Given the description of an element on the screen output the (x, y) to click on. 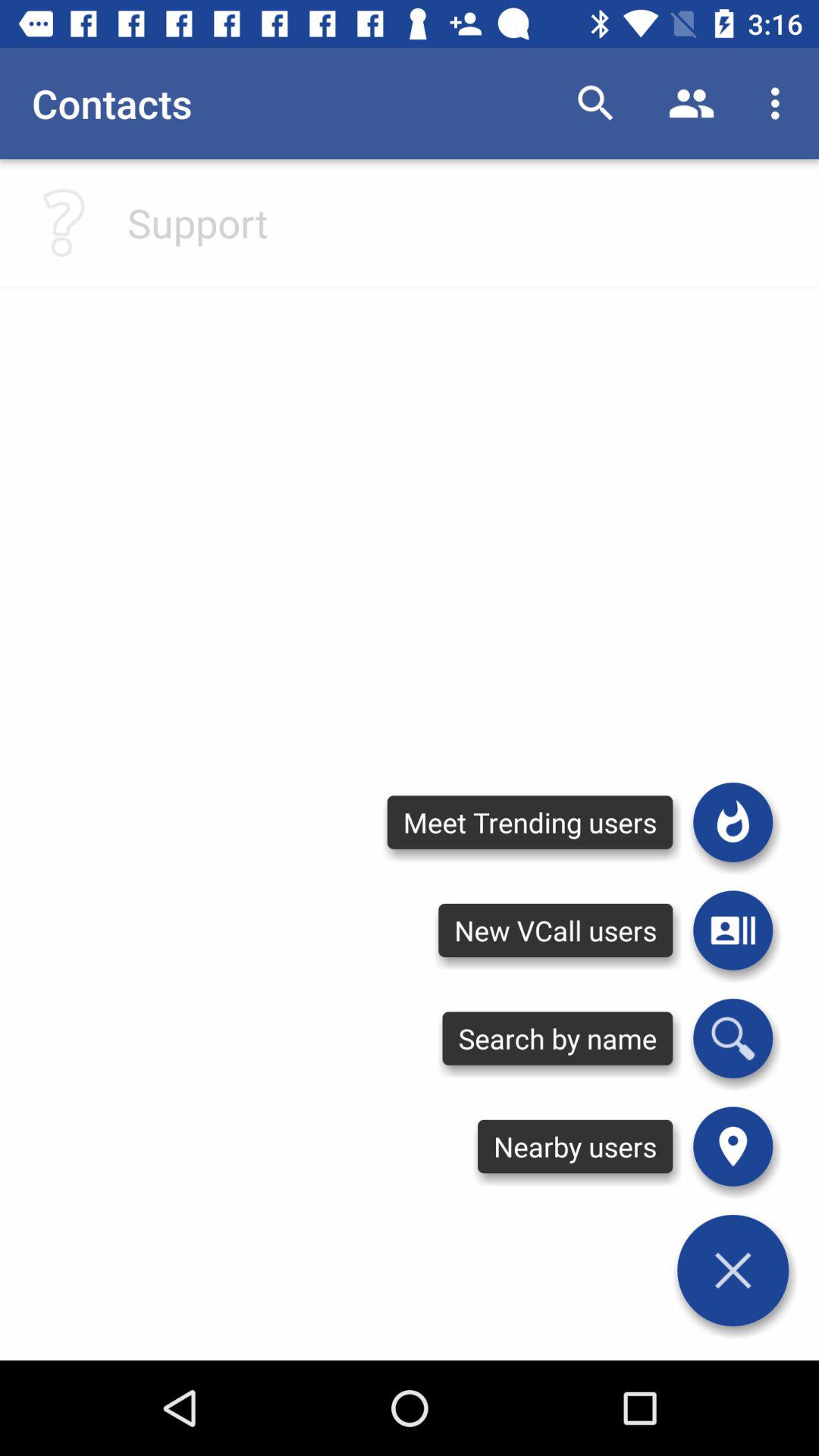
open contacts (733, 930)
